Given the description of an element on the screen output the (x, y) to click on. 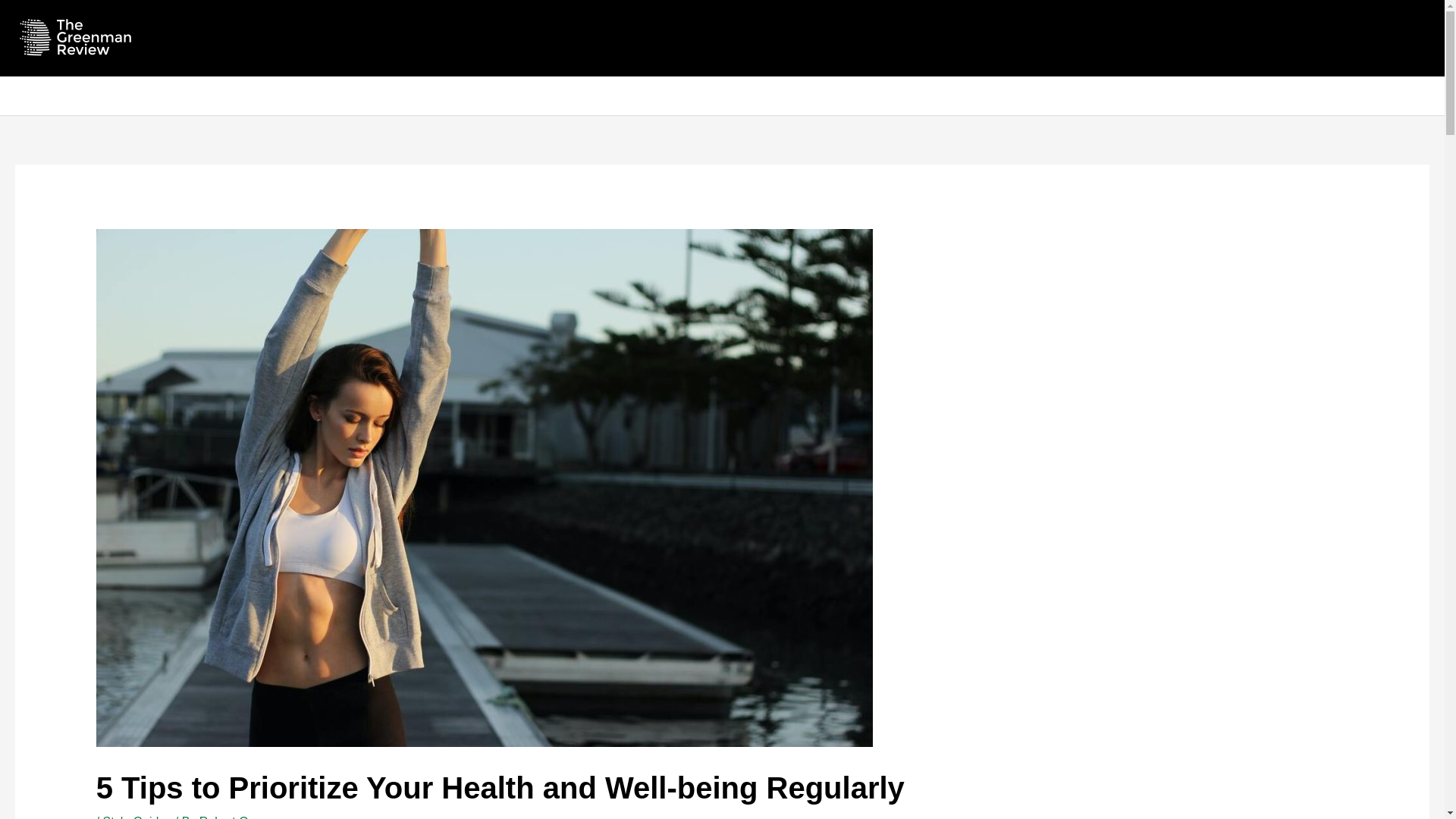
STYLE GUIDES (71, 95)
Robert Ong (230, 816)
CAREER AND PROFESSIONAL DEVELOPMENT (447, 95)
View all posts by Robert Ong (230, 816)
TECHNOLOGY AND GADGETS (222, 95)
HOME AND LIVING (728, 95)
GROOMING (629, 95)
Style Guides (137, 816)
